Given the description of an element on the screen output the (x, y) to click on. 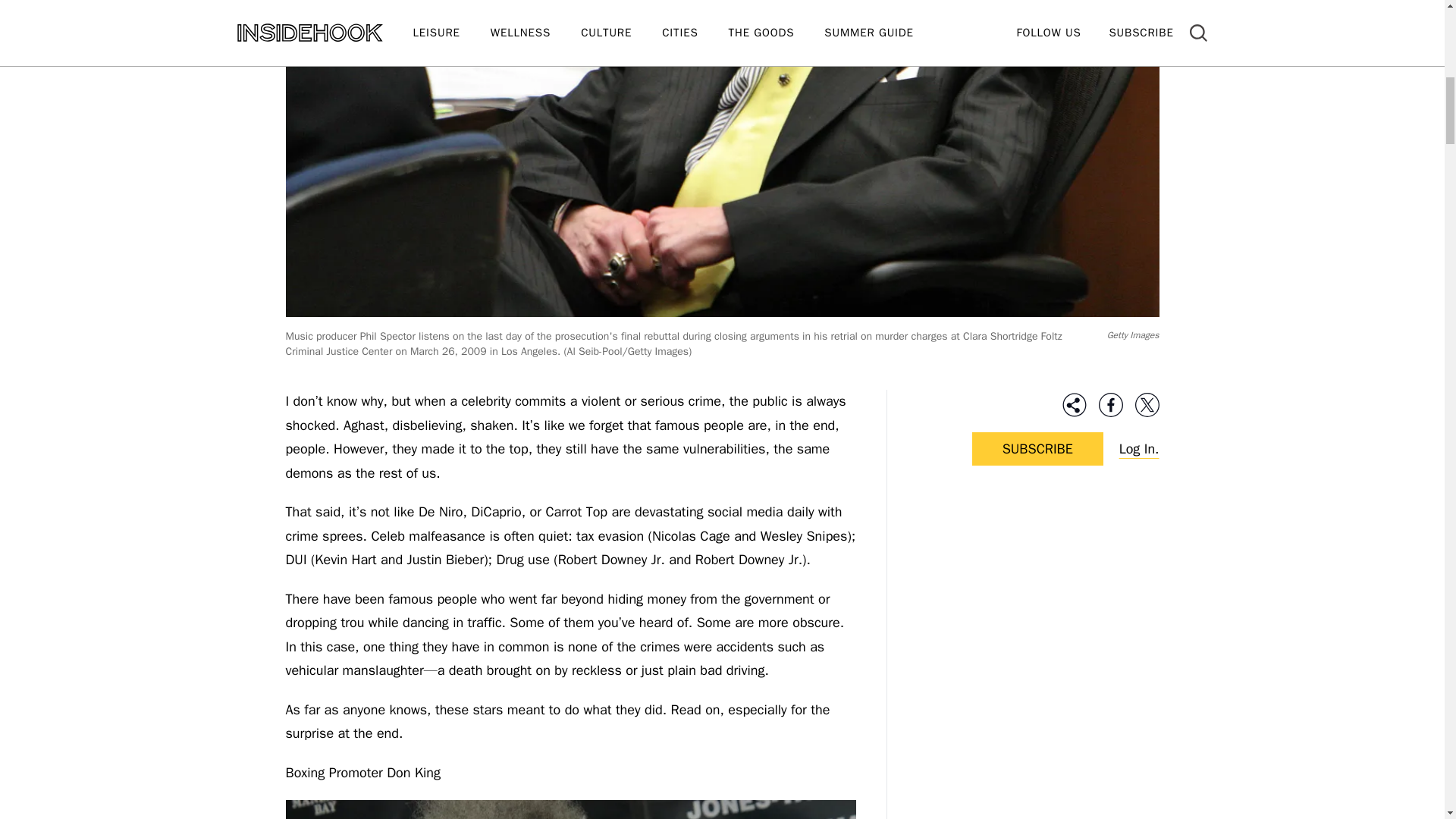
3rd party ad content (1037, 597)
